Given the description of an element on the screen output the (x, y) to click on. 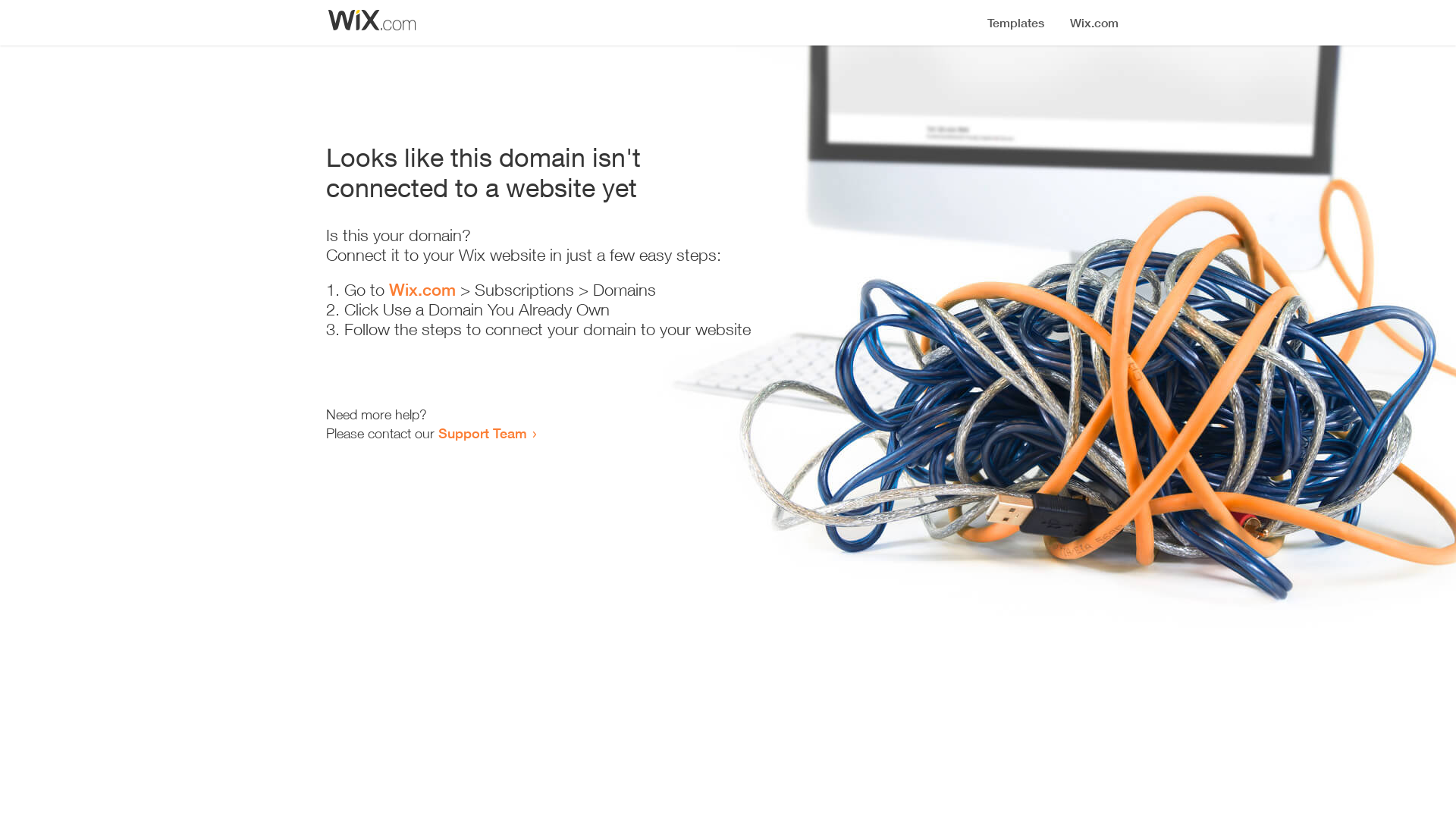
Support Team Element type: text (482, 432)
Wix.com Element type: text (422, 289)
